Given the description of an element on the screen output the (x, y) to click on. 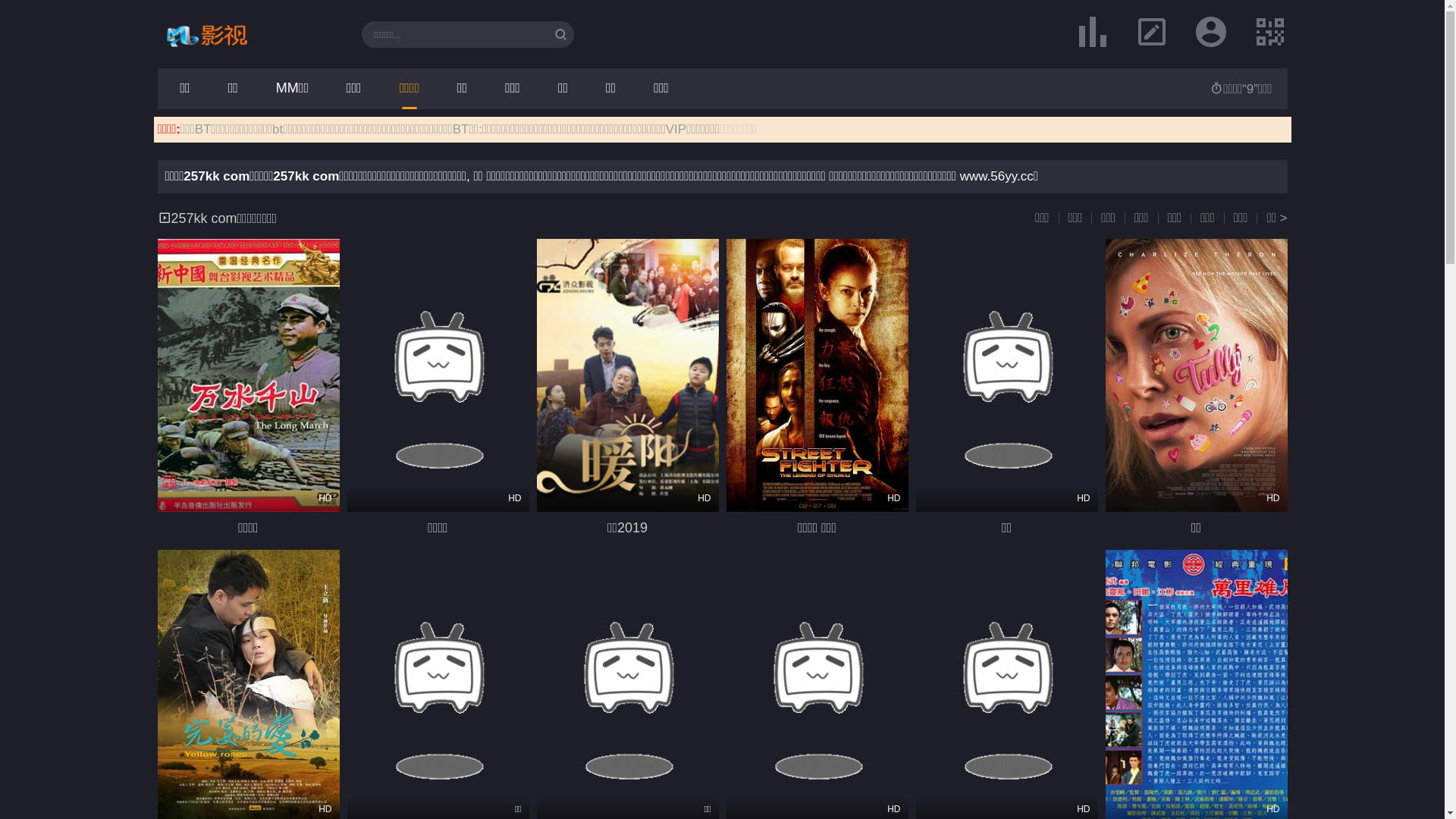
HD Element type: text (627, 374)
HD Element type: text (1196, 374)
HD Element type: text (1007, 374)
HD Element type: text (817, 374)
HD Element type: text (248, 374)
HD Element type: text (438, 374)
